Given the description of an element on the screen output the (x, y) to click on. 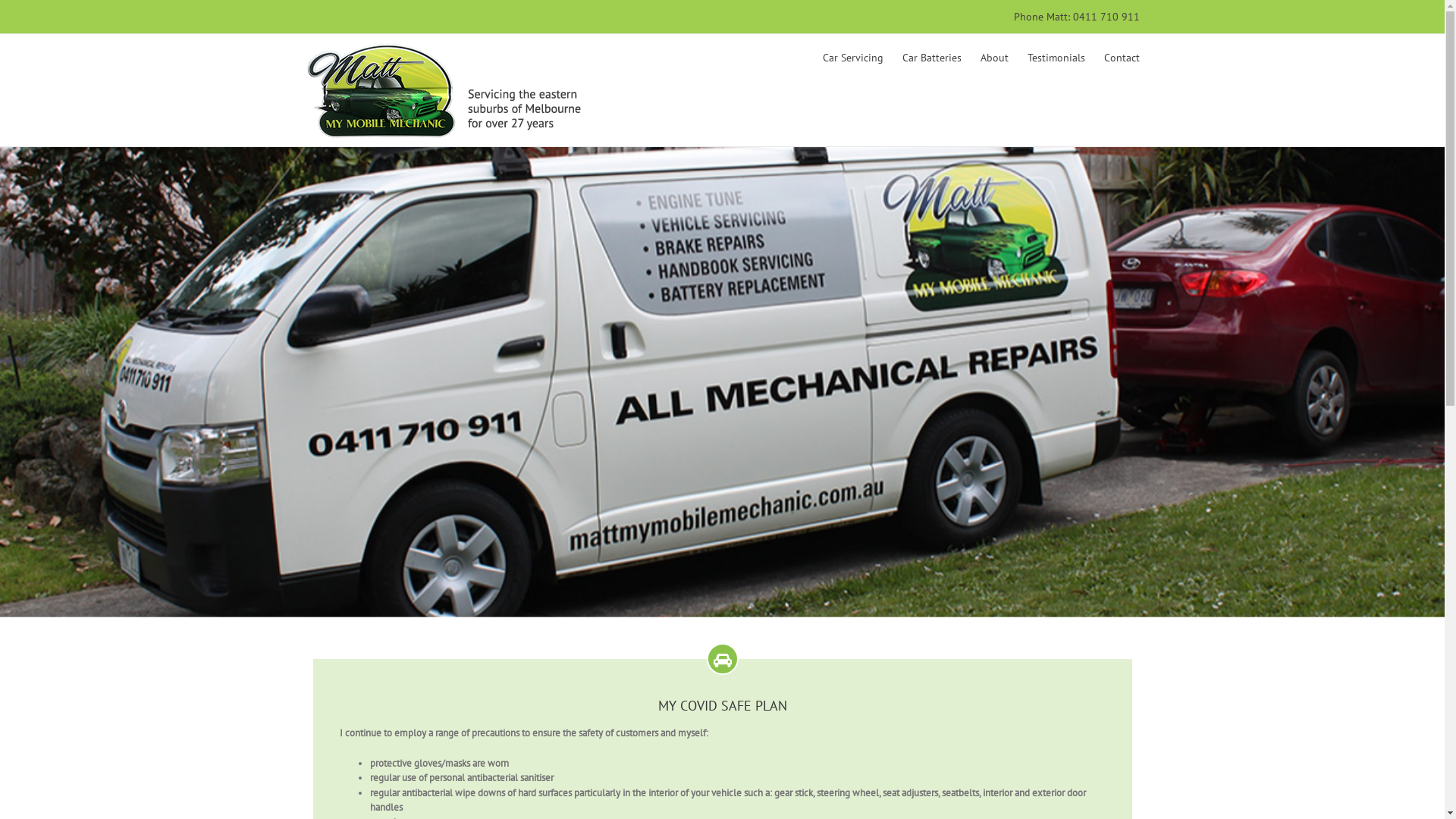
0411 710 911 Element type: text (1105, 16)
Contact Element type: text (1121, 57)
About Element type: text (993, 57)
Car Batteries Element type: text (931, 57)
Testimonials Element type: text (1055, 57)
Car Servicing Element type: text (852, 57)
